Given the description of an element on the screen output the (x, y) to click on. 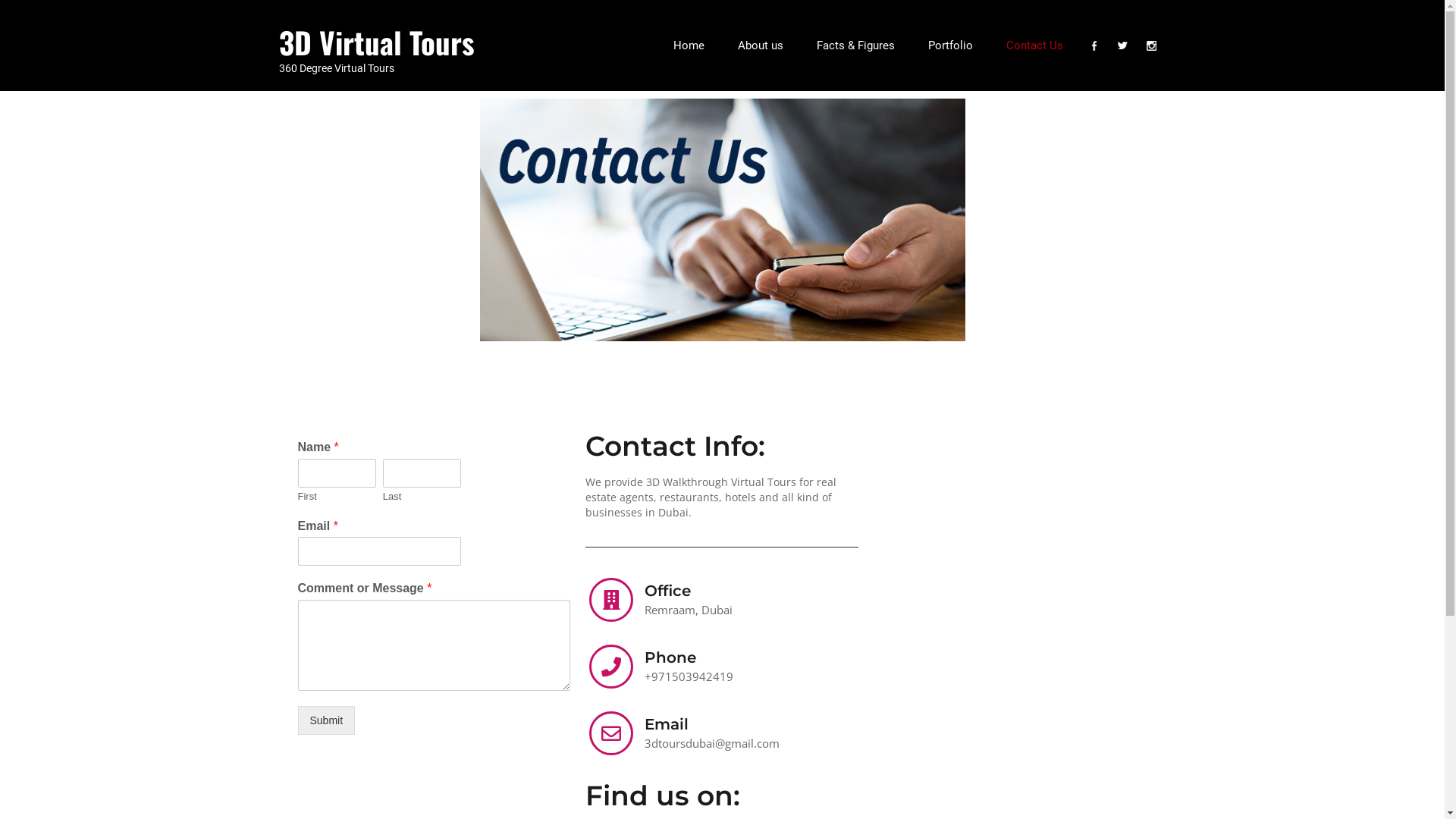
Facts & Figures Element type: text (854, 45)
About us Element type: text (759, 45)
3D Virtual Tours
360 Degree Virtual Tours Element type: text (376, 54)
Instagrama Element type: hover (1151, 45)
Portfolio Element type: text (950, 45)
Submit Element type: text (325, 720)
Office Element type: text (667, 590)
Email Element type: text (666, 724)
Contact Us Element type: text (1033, 45)
twitter Element type: hover (1122, 45)
Home Element type: text (688, 45)
facebook Element type: hover (1093, 45)
